Given the description of an element on the screen output the (x, y) to click on. 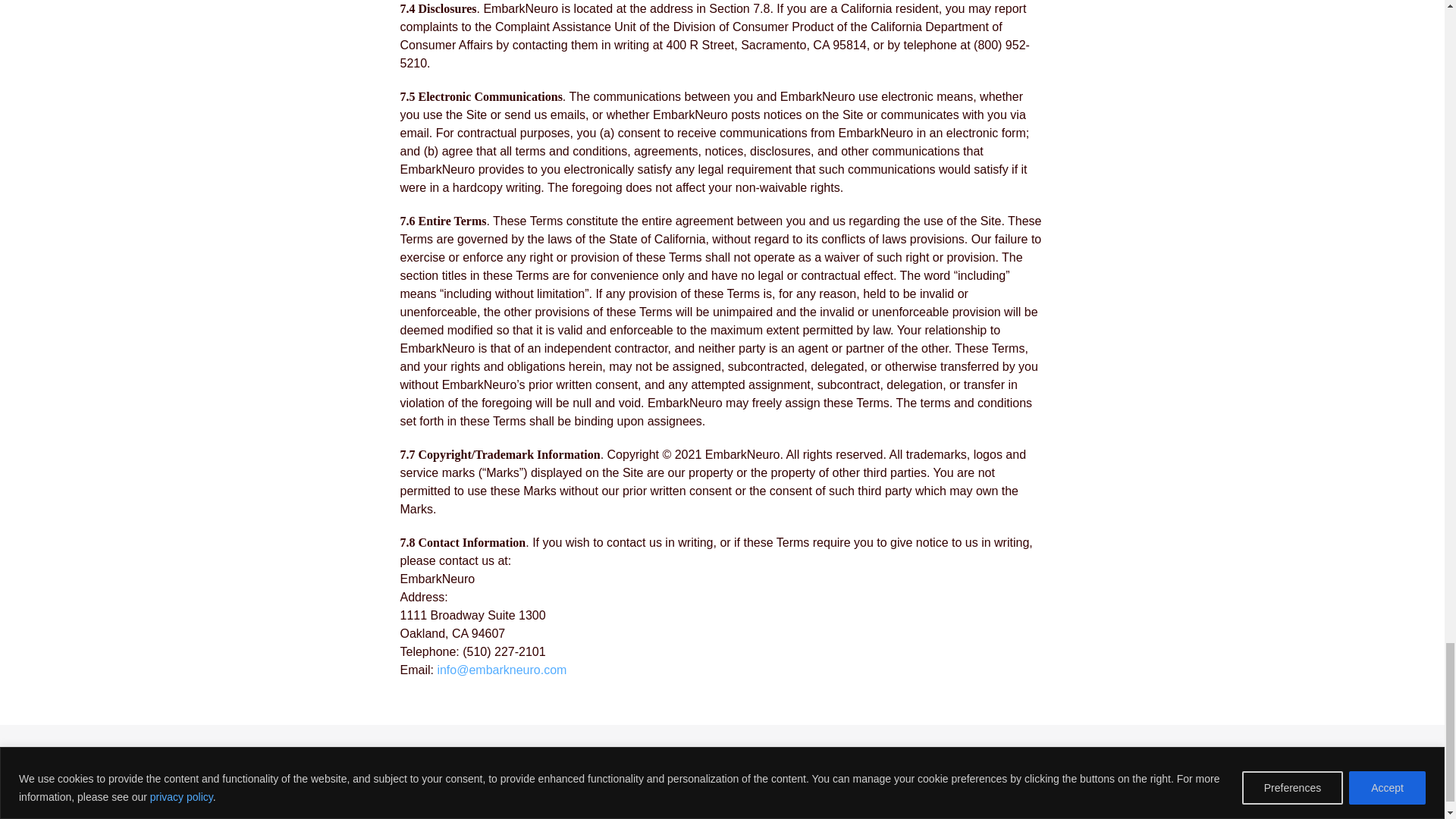
Twitter (1117, 763)
Terms of Use (539, 778)
Default Label (1150, 763)
linkedin (1150, 763)
Cookie Policy (391, 778)
twitter (1117, 763)
Site Credits (465, 778)
Privacy Policy (312, 778)
